Given the description of an element on the screen output the (x, y) to click on. 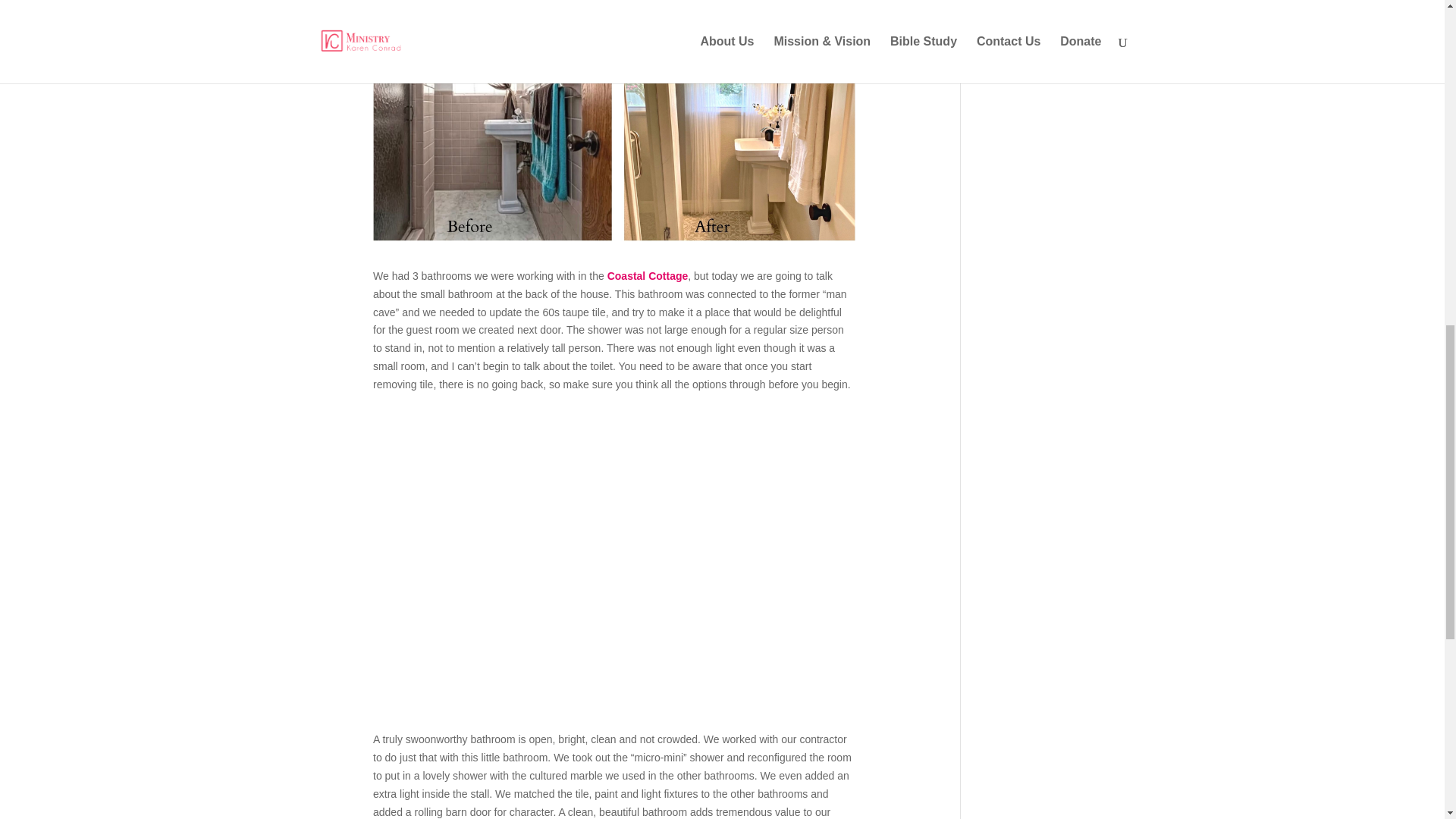
2 (614, 127)
How to Flip an Old Bathroom Into a Masterpiece (614, 571)
Coastal Cottage (647, 275)
